Given the description of an element on the screen output the (x, y) to click on. 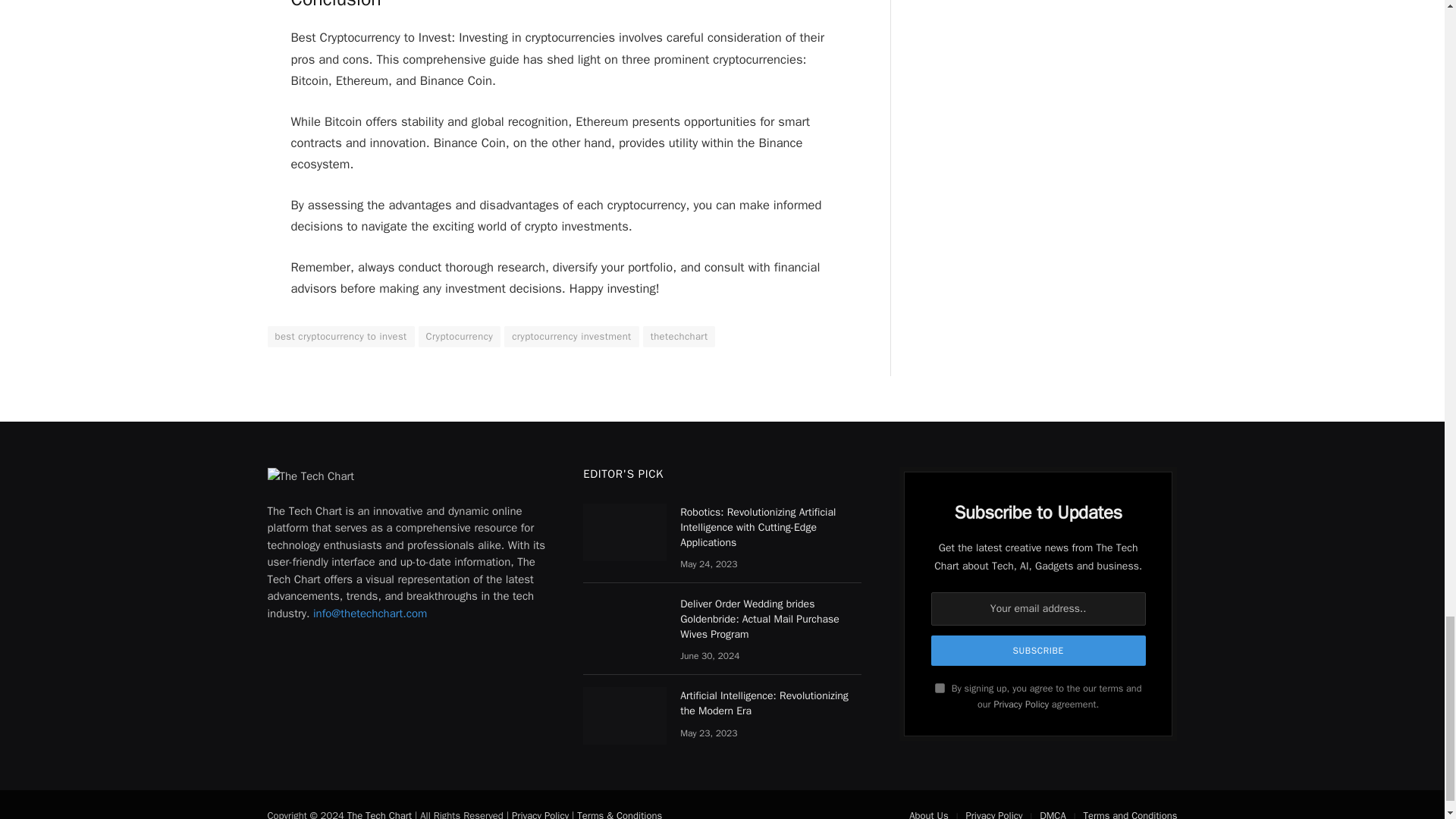
Cryptocurrency (459, 336)
cryptocurrency investment (571, 336)
best cryptocurrency to invest (339, 336)
on (939, 687)
thetechchart (679, 336)
Subscribe (1038, 650)
